Given the description of an element on the screen output the (x, y) to click on. 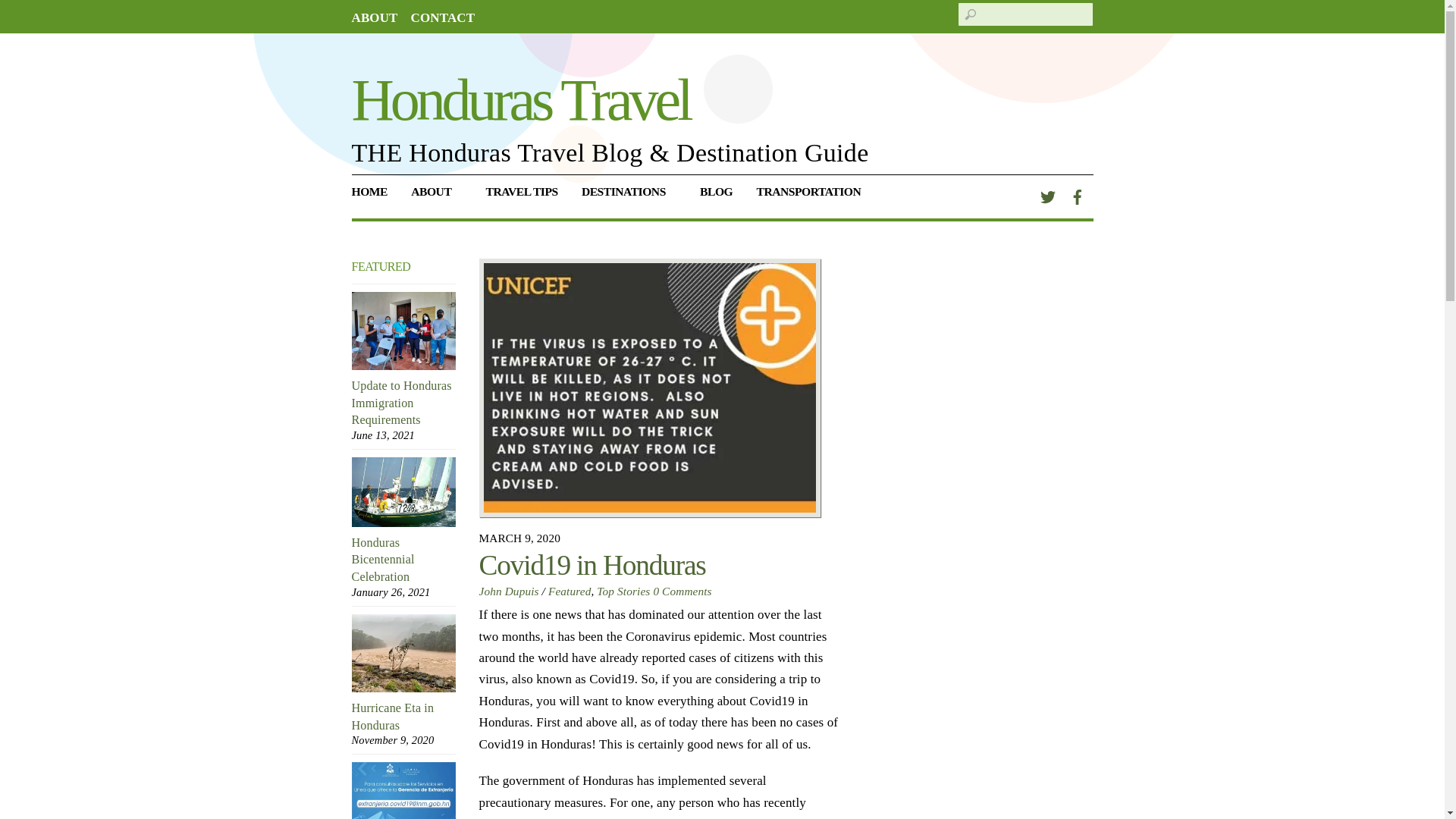
sweet home (375, 196)
Covid19 in Honduras (650, 387)
CONTACT (443, 17)
Honduras Travel (436, 196)
TRAVEL TIPS (521, 196)
ABOUT (374, 17)
Honduras Travel (521, 99)
getting around (813, 196)
Honduras Travel (521, 99)
to discover (628, 196)
travel inspiration (715, 196)
Update to Honduras Immigration Requirements (404, 331)
ABOUT (436, 196)
DESTINATIONS (628, 196)
HOME (375, 196)
